Given the description of an element on the screen output the (x, y) to click on. 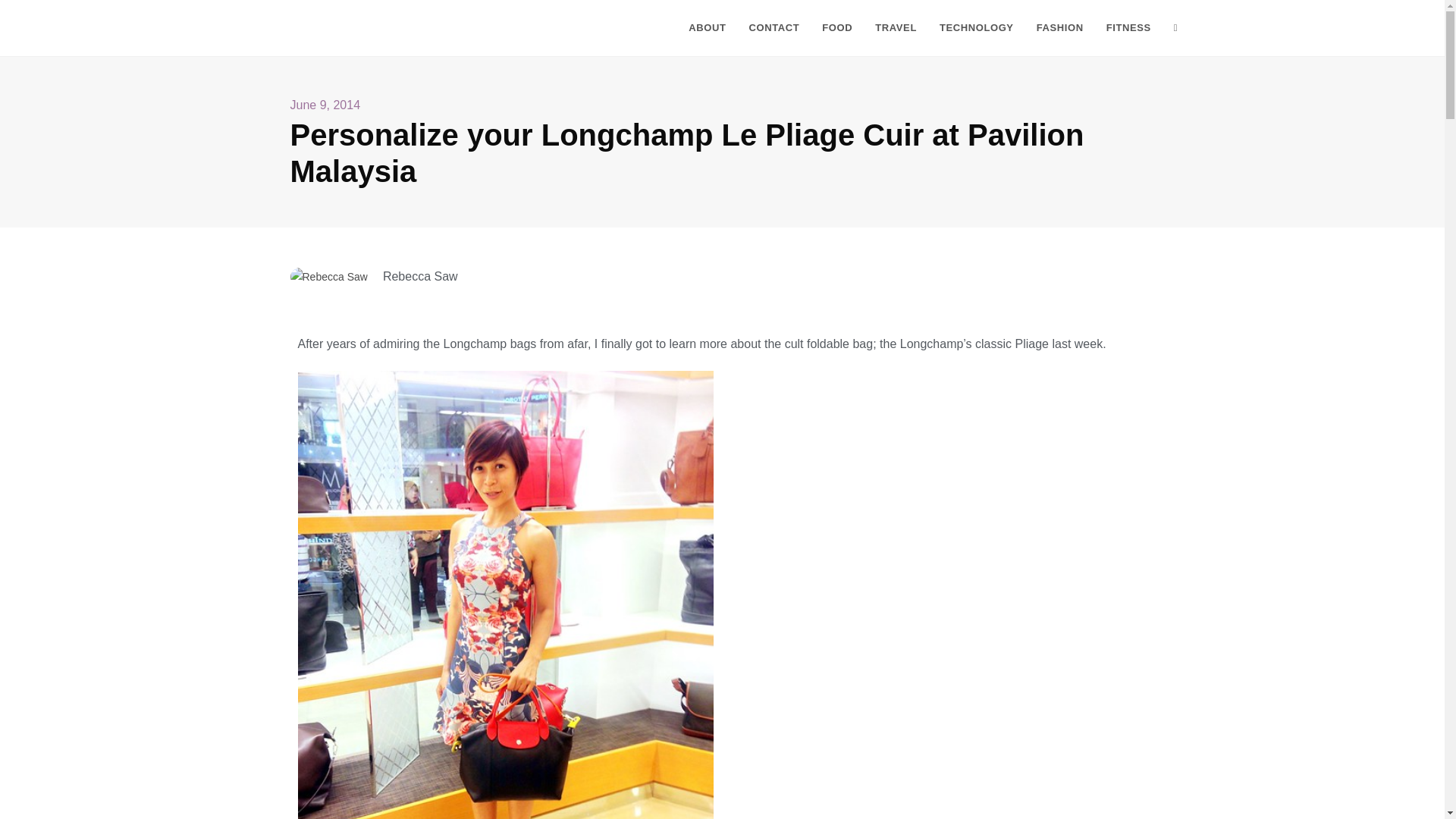
Rebecca Saw (322, 27)
FASHION (1059, 28)
TRAVEL (895, 28)
FITNESS (1127, 28)
TECHNOLOGY (976, 28)
June 9, 2014 (324, 106)
ABOUT (706, 28)
CONTACT (774, 28)
FOOD (836, 28)
